Given the description of an element on the screen output the (x, y) to click on. 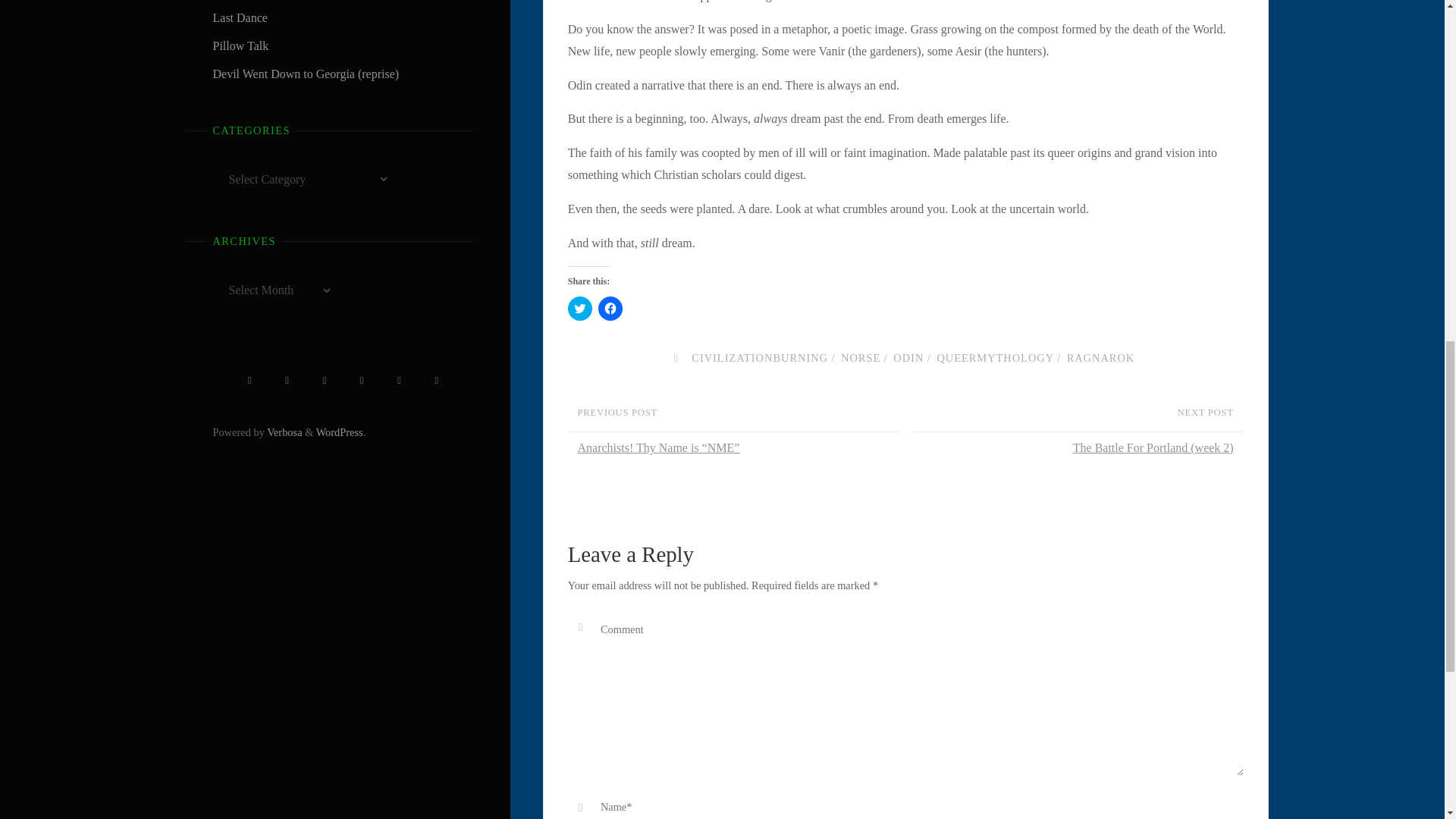
Semantic Personal Publishing Platform (338, 431)
Pillow Talk (239, 45)
Verbosa (283, 431)
Verbosa WordPress Theme by Cryout Creations (283, 431)
WordPress (338, 431)
Last Dance (239, 17)
